Given the description of an element on the screen output the (x, y) to click on. 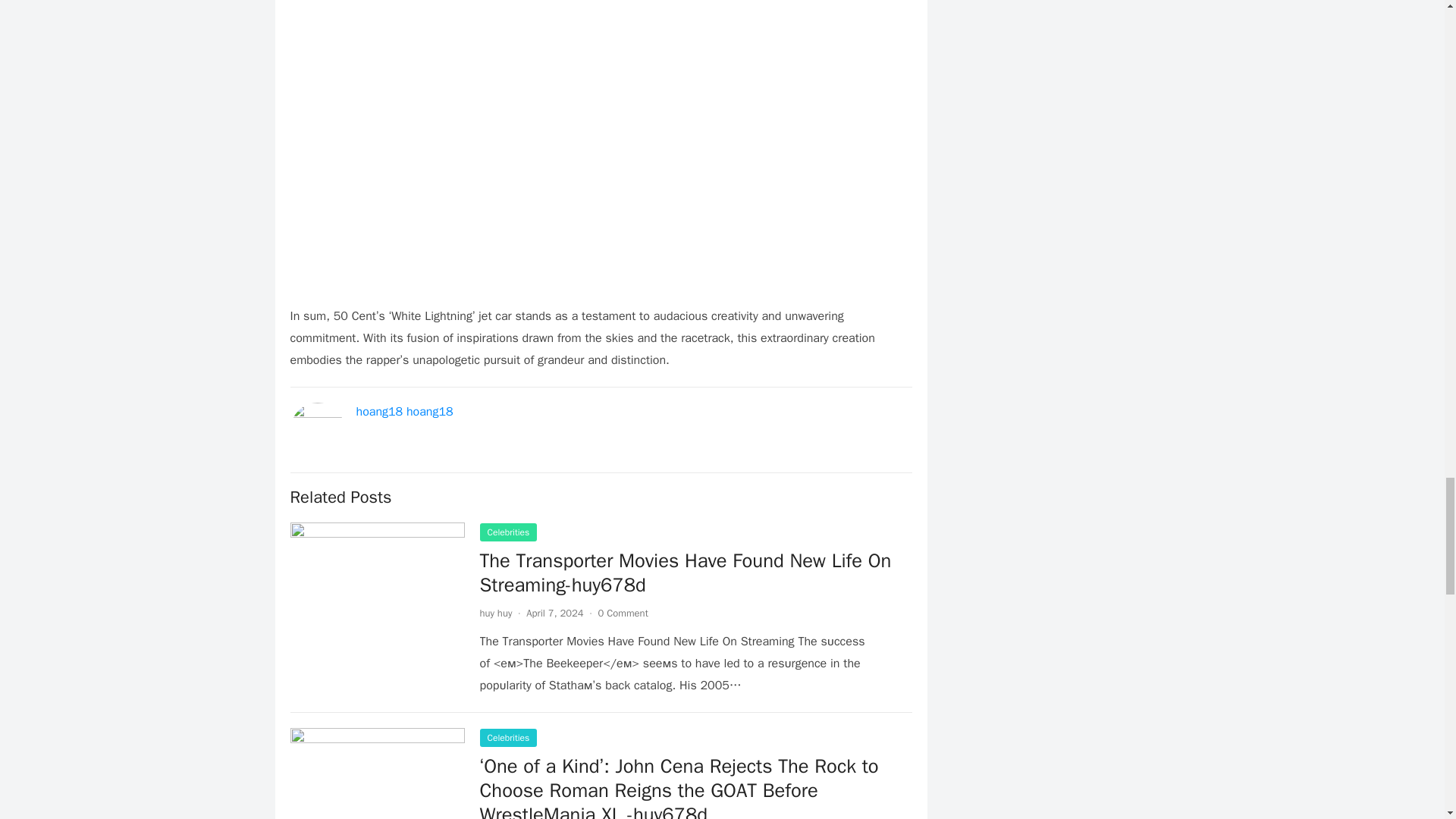
hoang18 hoang18 (404, 411)
Posts by huy huy (495, 612)
Celebrities (508, 737)
0 Comment (622, 612)
Celebrities (508, 532)
huy huy (495, 612)
